Given the description of an element on the screen output the (x, y) to click on. 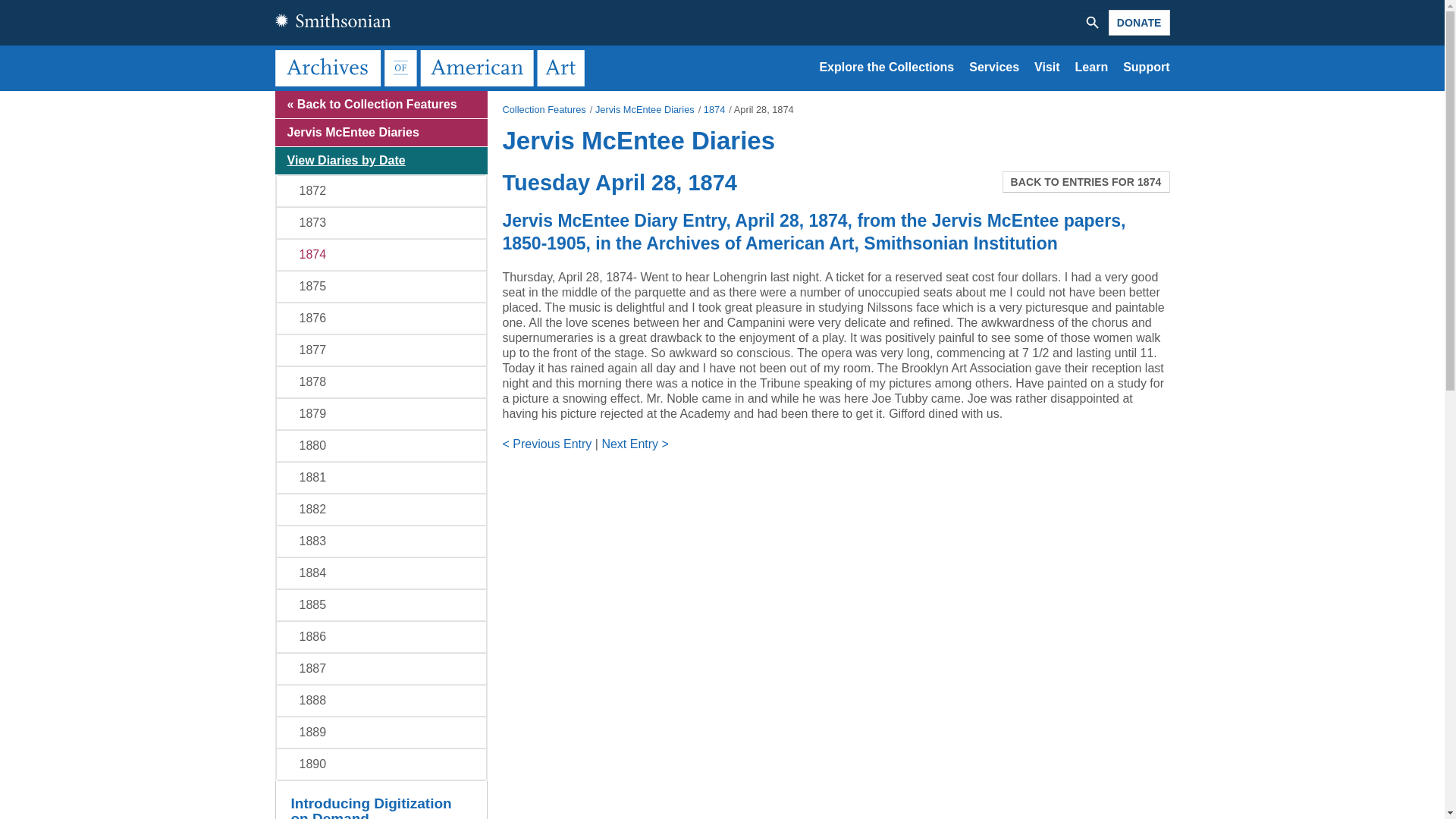
Records and Resources (885, 67)
Explore the Collections (885, 67)
Skip to main content (721, 91)
Archives of American Art, Smithsonian Institution (432, 67)
Services (994, 67)
DONATE (1139, 22)
Home (432, 67)
